Given the description of an element on the screen output the (x, y) to click on. 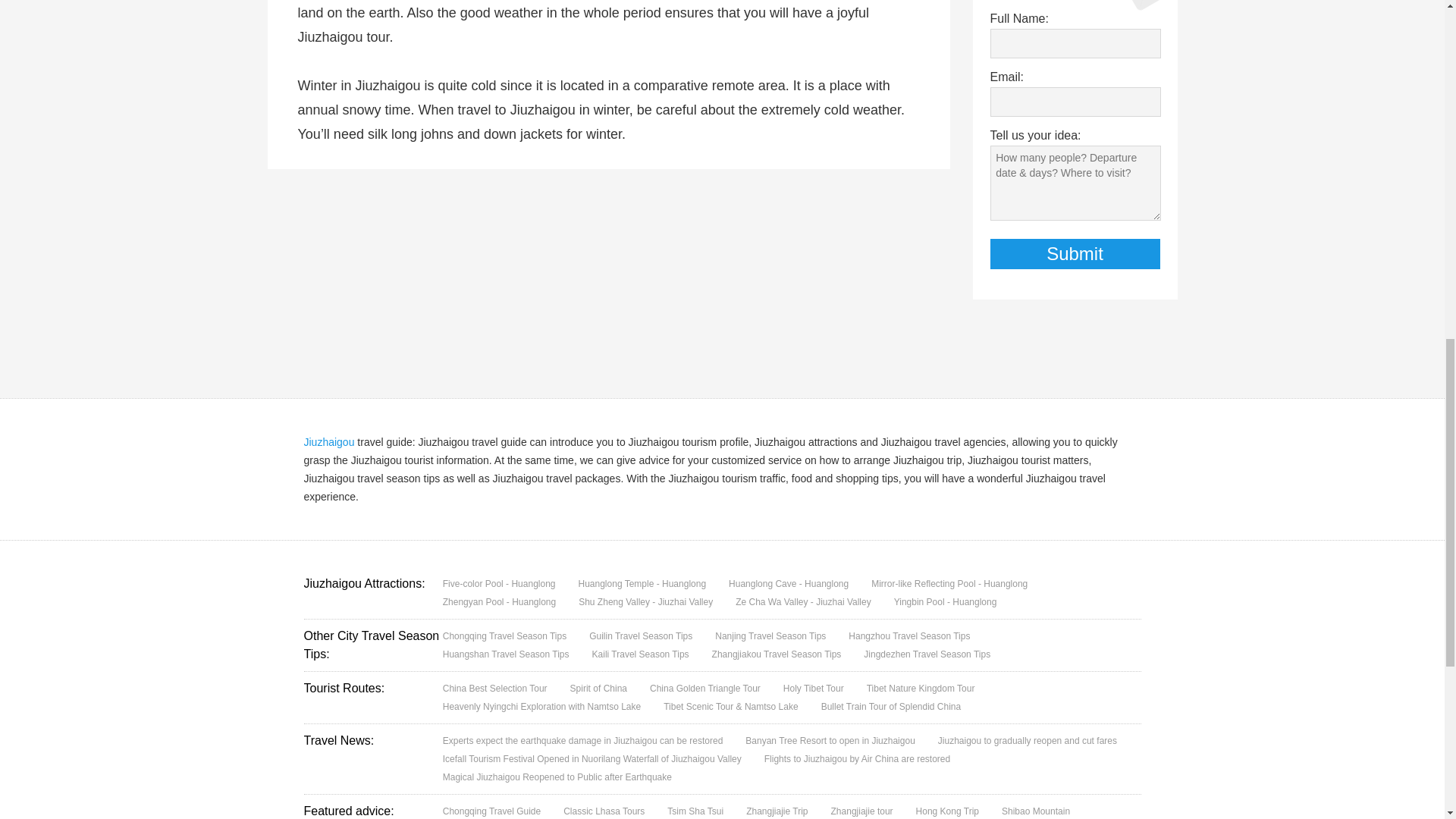
Jiuzhaigou (327, 441)
Submit (1075, 254)
